Given the description of an element on the screen output the (x, y) to click on. 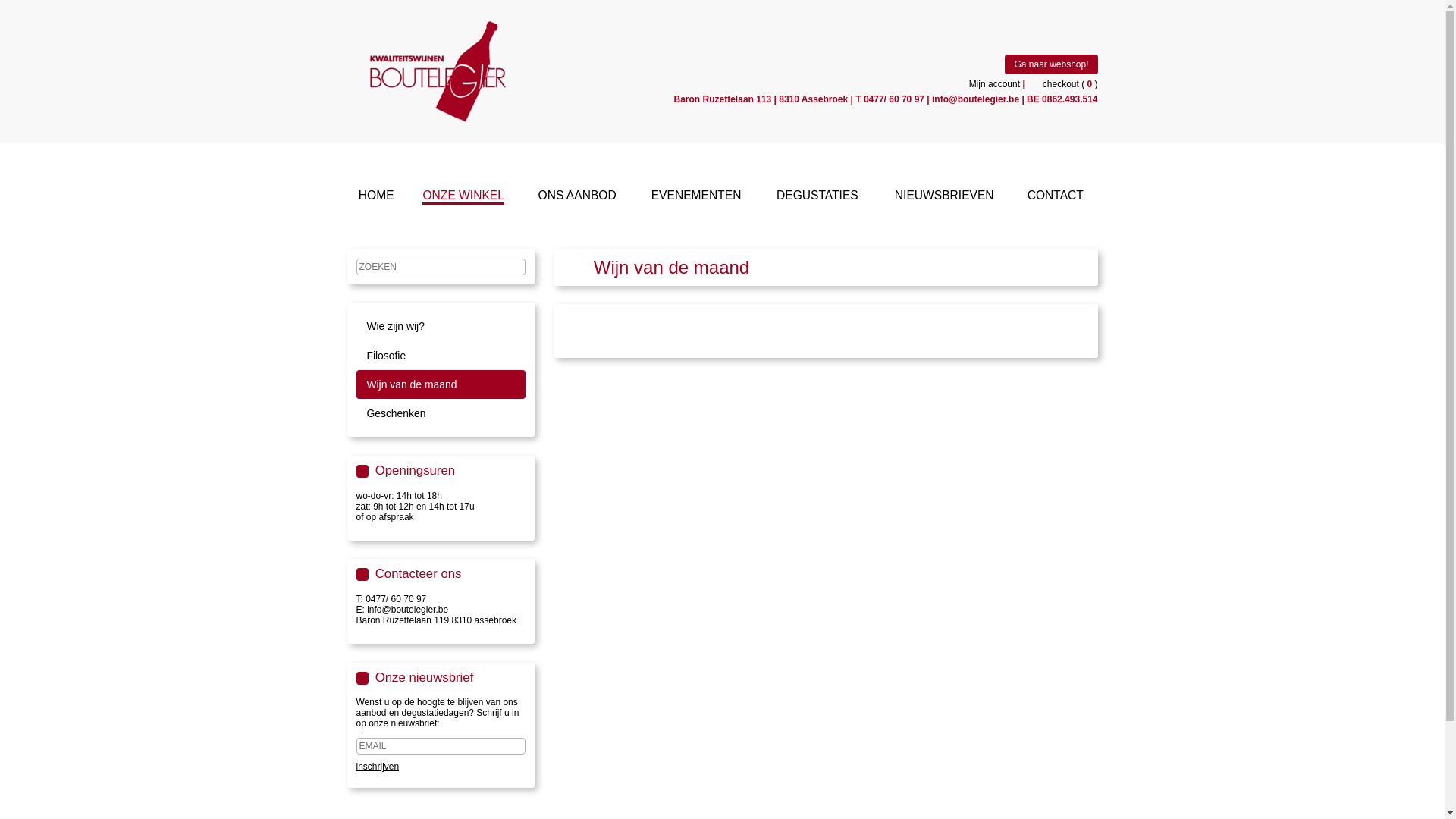
ONZE WINKEL Element type: text (462, 196)
Filosofie Element type: text (441, 355)
inschrijven Element type: text (377, 766)
Geschenken Element type: text (441, 412)
Wijn van de maand Element type: text (441, 384)
EVENEMENTEN Element type: text (696, 196)
DEGUSTATIES Element type: text (817, 196)
HOME Element type: text (376, 196)
ONS AANBOD Element type: text (577, 196)
info@boutelegier.be Element type: text (975, 99)
CONTACT Element type: text (1055, 196)
NIEUWSBRIEVEN Element type: text (944, 196)
Ga naar webshop! Element type: text (1050, 64)
Wie zijn wij? Element type: text (441, 325)
checkout ( 0 ) Element type: text (1062, 83)
Mijn account Element type: text (994, 83)
